Given the description of an element on the screen output the (x, y) to click on. 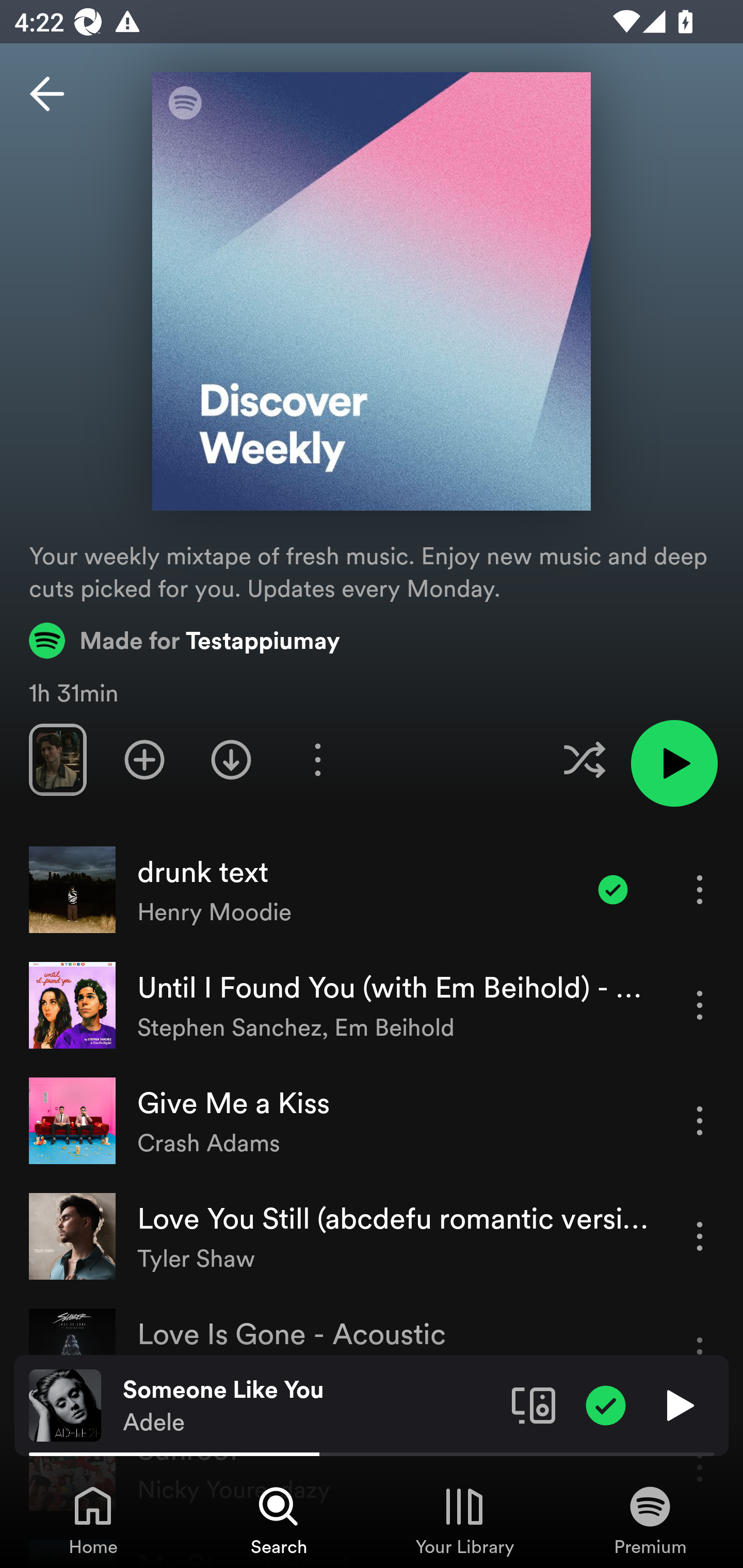
Back (46, 93)
Made for Testappiumay (184, 640)
Swipe through previews of tracks in this playlist. (57, 759)
Add playlist to Your Library (144, 759)
Download (230, 759)
More options for playlist Discover Weekly (317, 759)
Enable shuffle for this playlist (583, 759)
Play playlist (674, 763)
Item added (612, 889)
More options for song drunk text (699, 889)
More options for song Give Me a Kiss (699, 1120)
Someone Like You Adele (309, 1405)
The cover art of the currently playing track (64, 1404)
Connect to a device. Opens the devices menu (533, 1404)
Item added (605, 1404)
Play (677, 1404)
Home, Tab 1 of 4 Home Home (92, 1519)
Search, Tab 2 of 4 Search Search (278, 1519)
Your Library, Tab 3 of 4 Your Library Your Library (464, 1519)
Premium, Tab 4 of 4 Premium Premium (650, 1519)
